Given the description of an element on the screen output the (x, y) to click on. 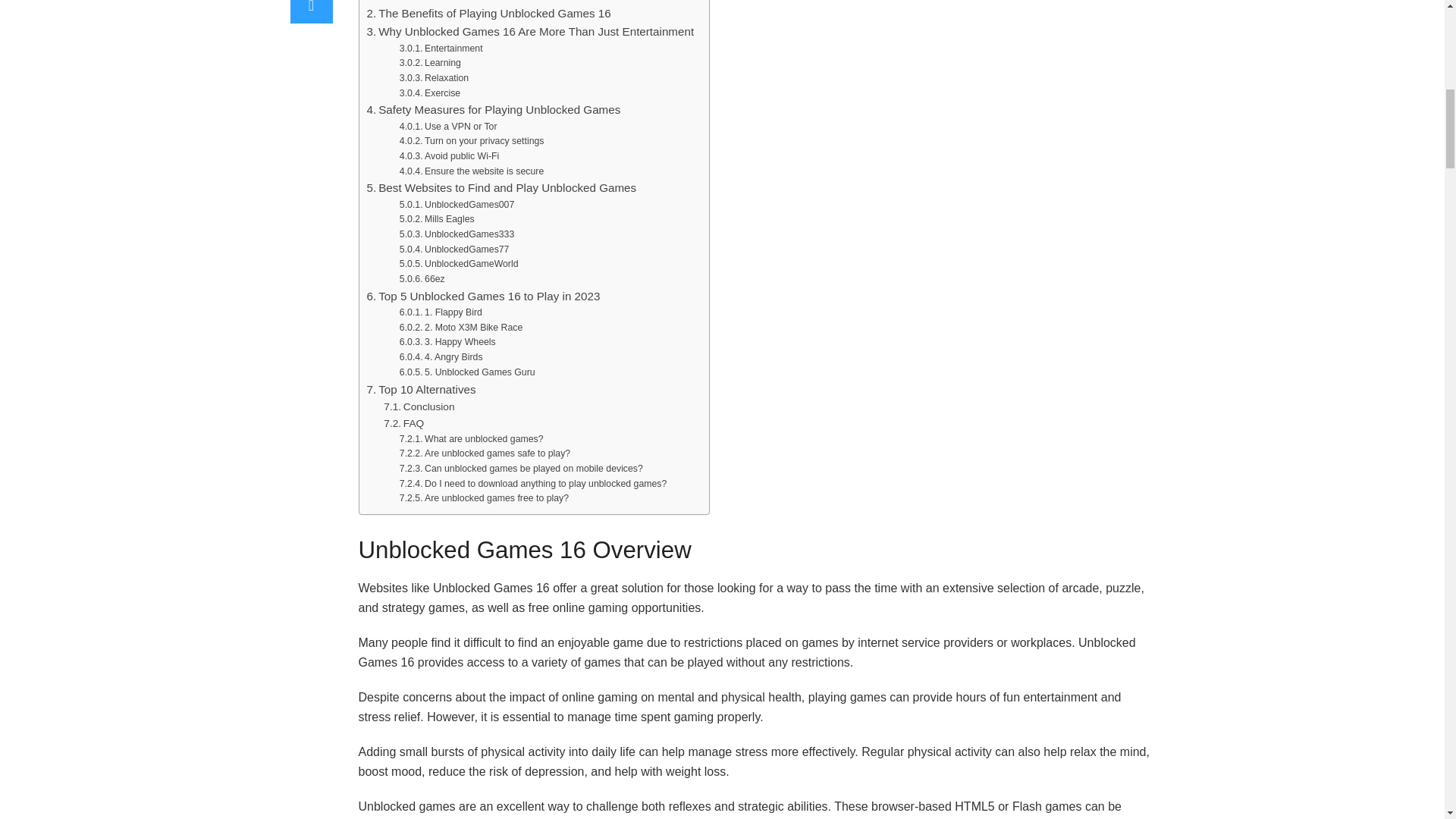
Ensure the website is secure (470, 171)
The Benefits of Playing Unblocked Games 16 (488, 13)
Learning (429, 63)
Unblocked Games 16 Overview (453, 2)
Exercise (429, 93)
Mills Eagles (436, 219)
Best Websites to Find and Play Unblocked Games (501, 188)
Unblocked Games 16 Overview (453, 2)
UnblockedGames333 (456, 234)
UnblockedGames007 (456, 205)
